Given the description of an element on the screen output the (x, y) to click on. 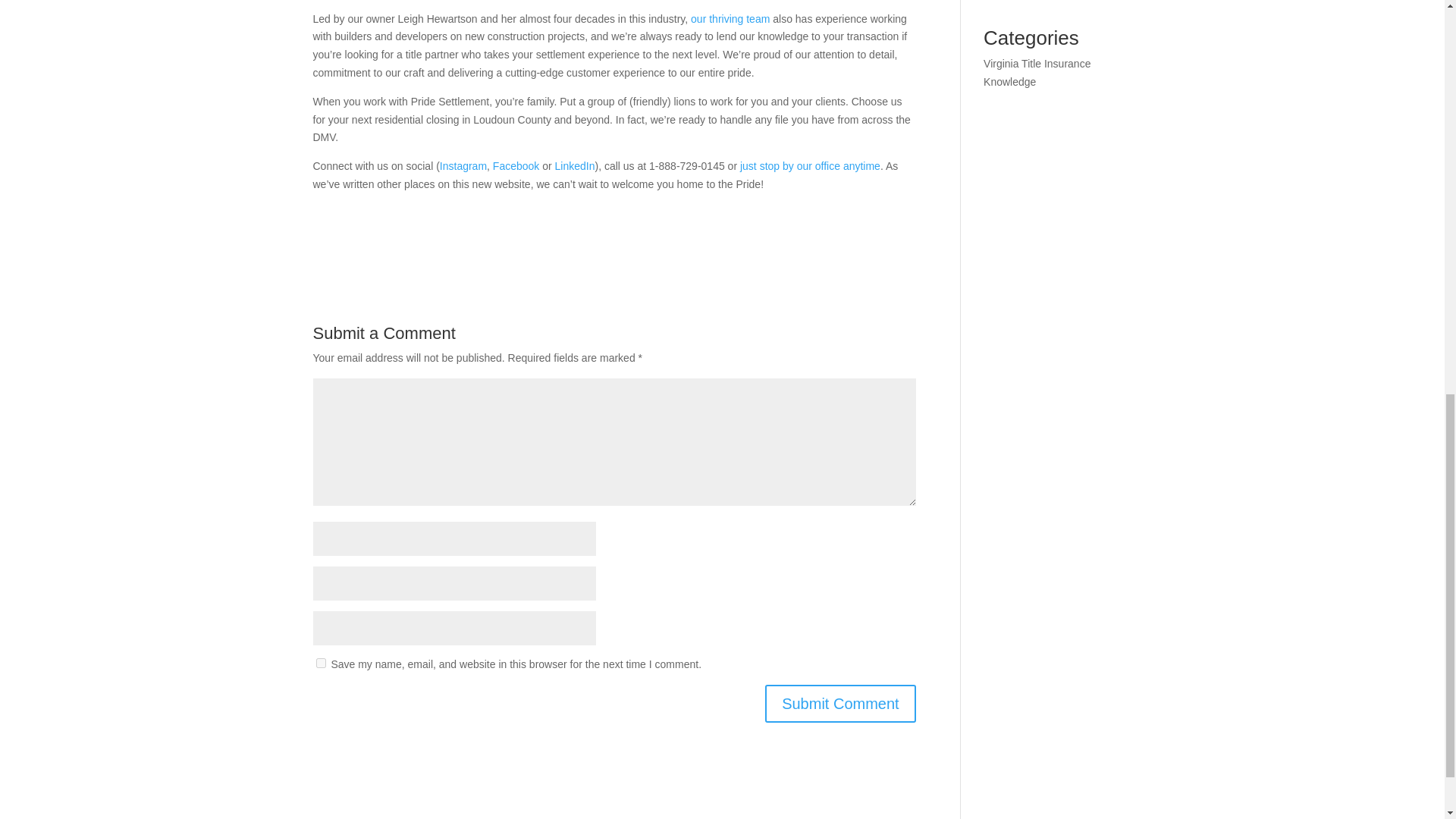
our thriving team (730, 19)
yes (319, 663)
LinkedIn (574, 165)
Instagram (462, 165)
Facebook (515, 165)
Virginia Title Insurance Knowledge (1037, 72)
just stop by our office anytime (809, 165)
Submit Comment (840, 703)
Submit Comment (840, 703)
December 2021 (1021, 0)
